Given the description of an element on the screen output the (x, y) to click on. 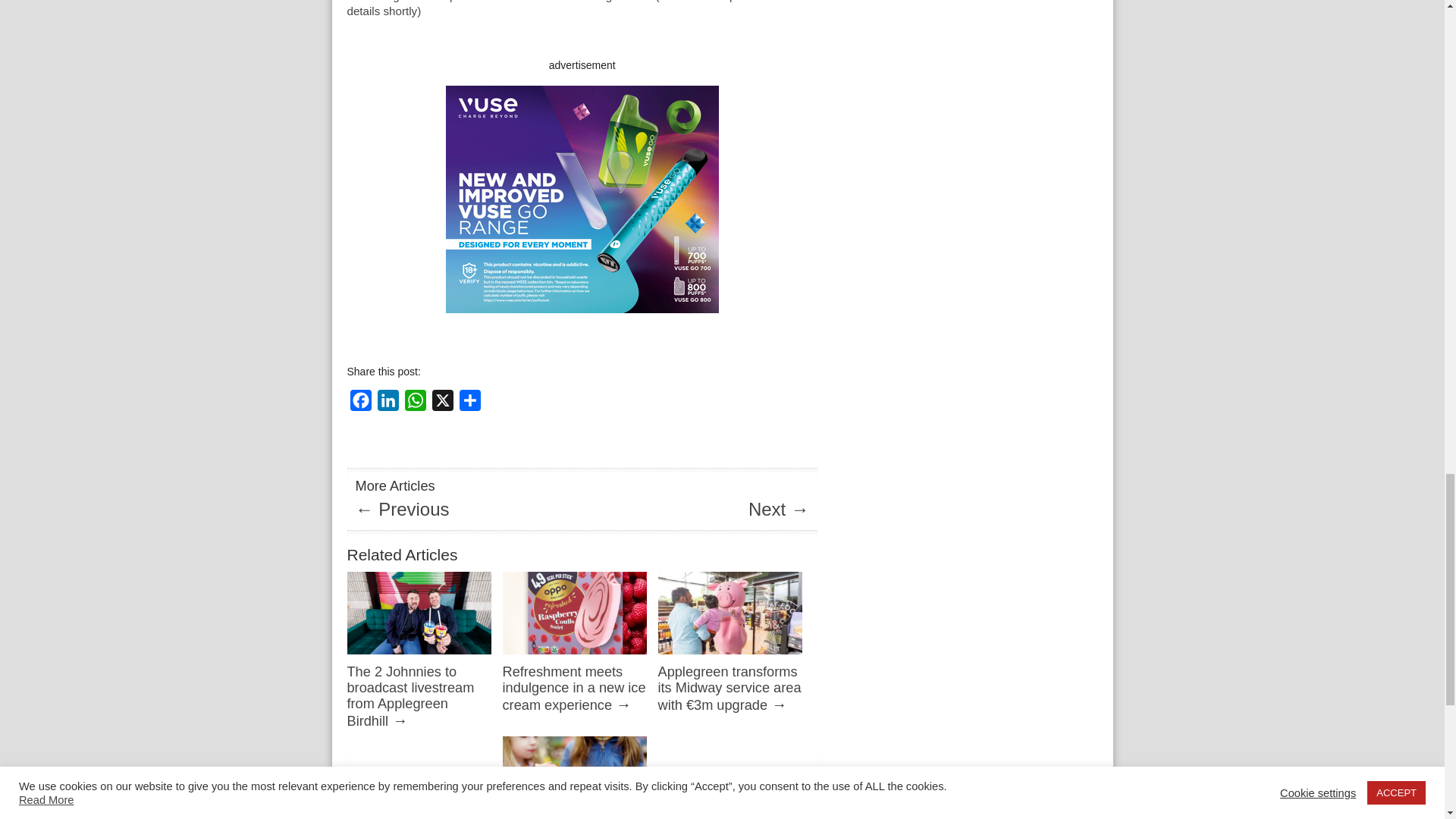
Facebook (360, 401)
Refreshment meets indulgence in a new ice cream experience (574, 657)
Refreshment meets indulgence in a new ice cream experience (573, 688)
X (443, 401)
FSAI provides advice on slush ice drinks for young children (574, 817)
Share (470, 401)
WhatsApp (415, 401)
LinkedIn (387, 401)
